Given the description of an element on the screen output the (x, y) to click on. 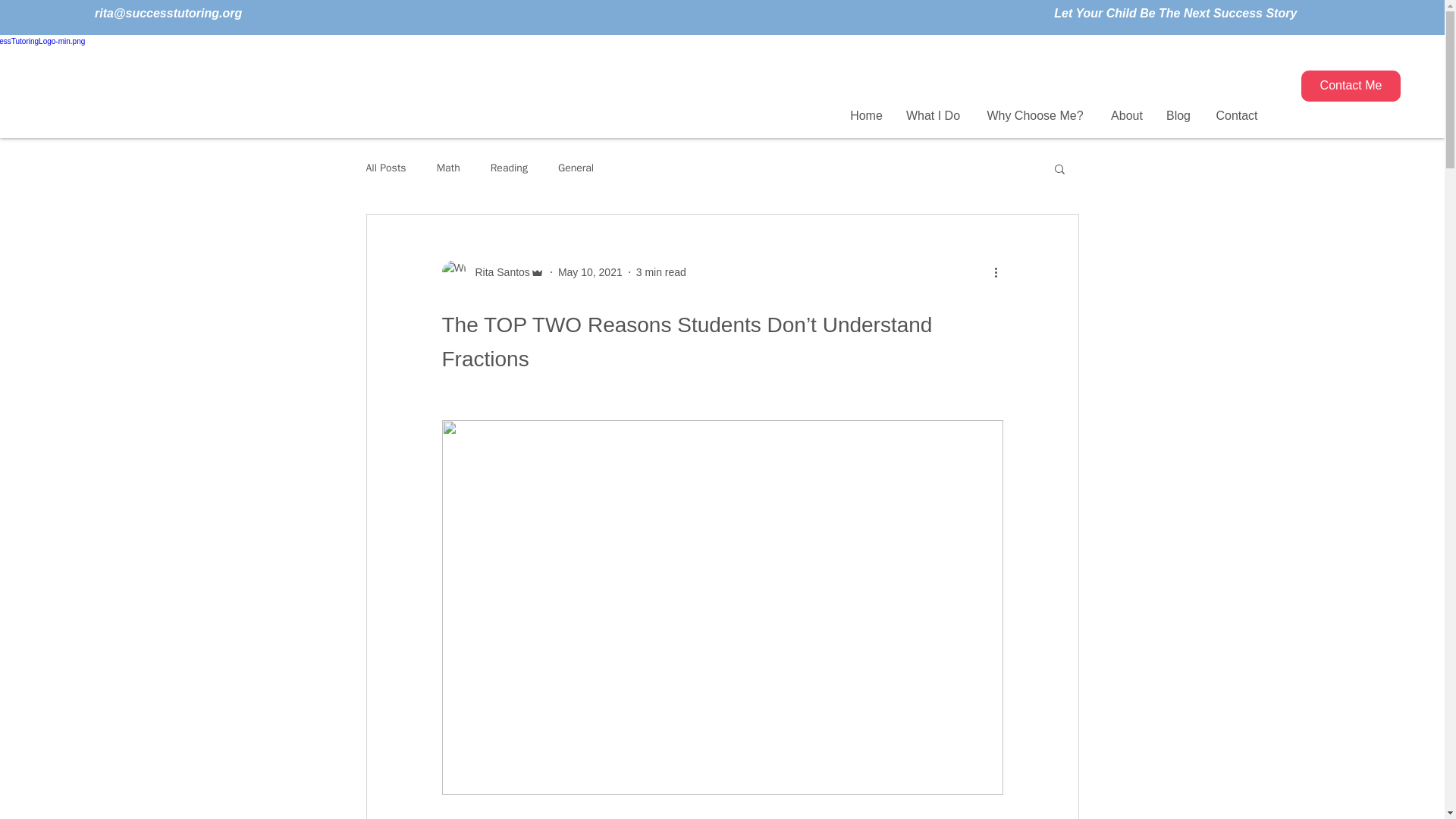
Rita Santos (492, 272)
About (1126, 115)
3 min read (660, 271)
Why Choose Me? (1034, 115)
Let Your Child Be The Next Success Story (1175, 12)
Rita Santos (497, 271)
Contact Me (1350, 85)
Reading (508, 168)
Blog (1178, 115)
What I Do (932, 115)
May 10, 2021 (590, 271)
Home (865, 115)
General (575, 168)
Math (448, 168)
All Posts (385, 168)
